Given the description of an element on the screen output the (x, y) to click on. 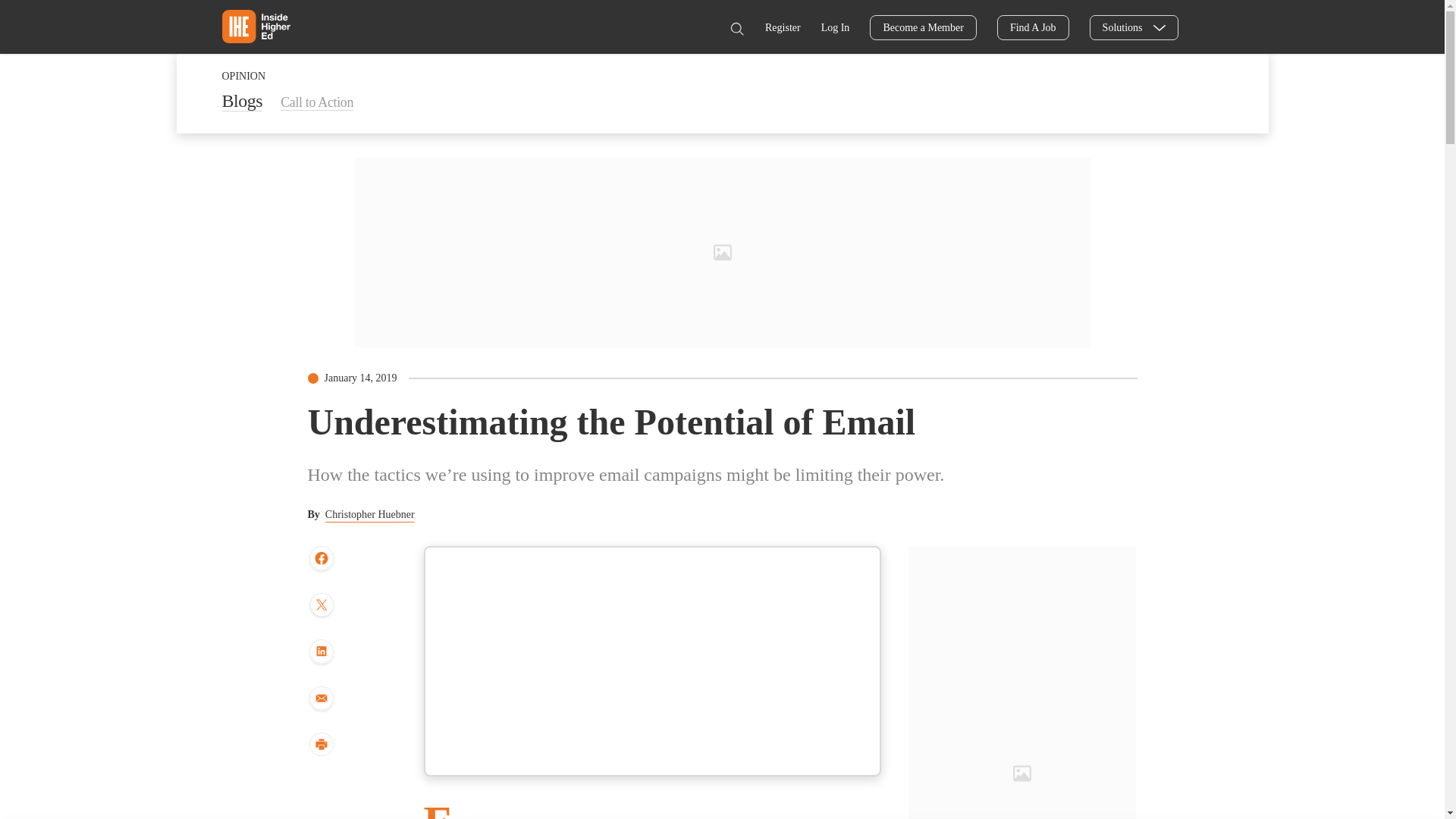
Find A Job (1032, 27)
share to twitter (320, 605)
Become a Member (922, 27)
share to Linkedin (320, 652)
Search (736, 28)
share to facebook (320, 559)
share by email (320, 699)
Home (255, 26)
